Given the description of an element on the screen output the (x, y) to click on. 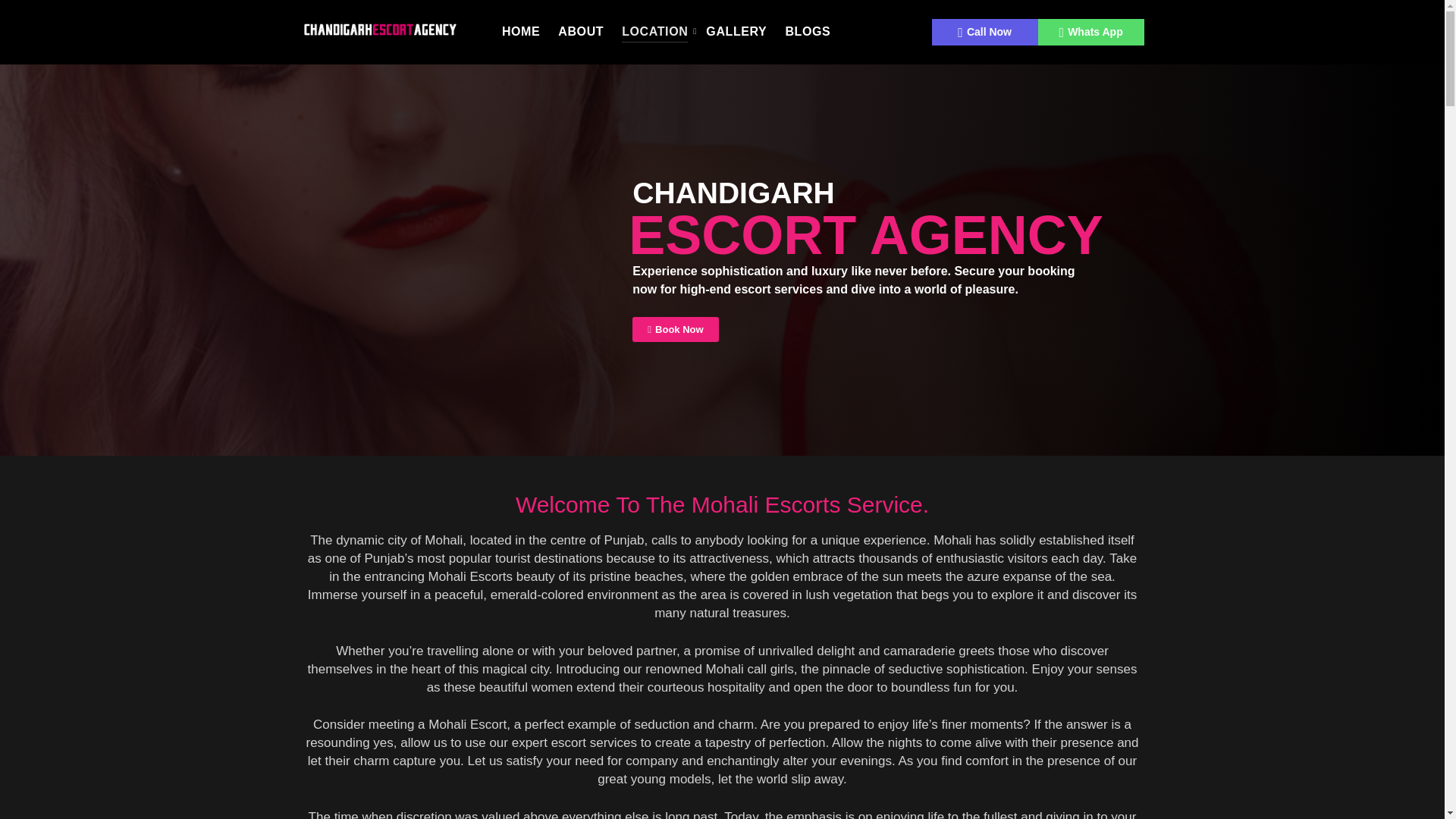
LOCATION (655, 32)
Call Now (984, 31)
Whats App (1091, 31)
ABOUT (580, 32)
BLOGS (807, 32)
Mohali call girls (749, 667)
GALLERY (736, 32)
Book Now (674, 329)
